Given the description of an element on the screen output the (x, y) to click on. 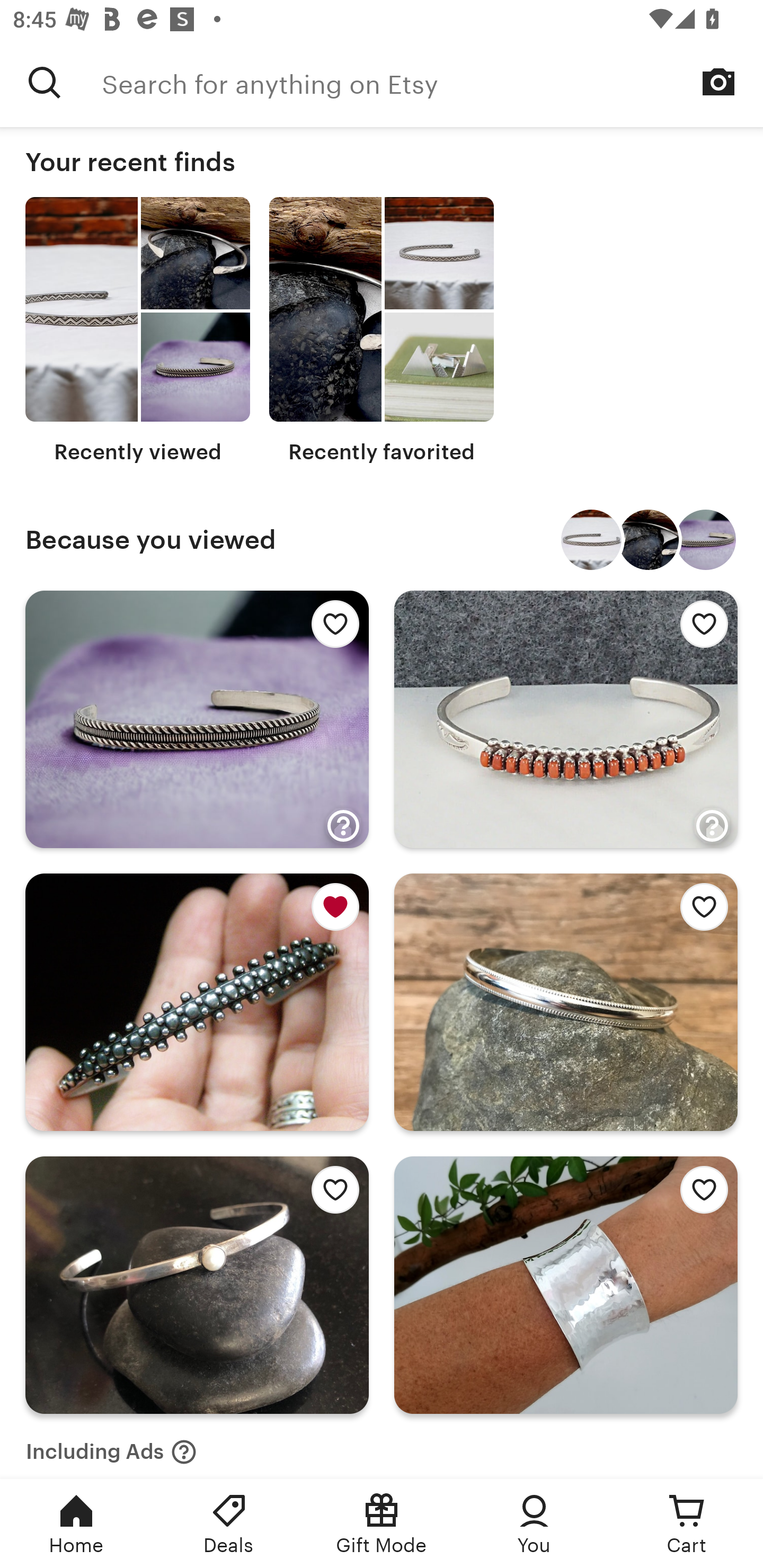
Search for anything on Etsy (44, 82)
Search by image (718, 81)
Search for anything on Etsy (432, 82)
Recently viewed (137, 330)
Recently favorited (381, 330)
Including Ads (111, 1446)
Deals (228, 1523)
Gift Mode (381, 1523)
You (533, 1523)
Cart (686, 1523)
